Given the description of an element on the screen output the (x, y) to click on. 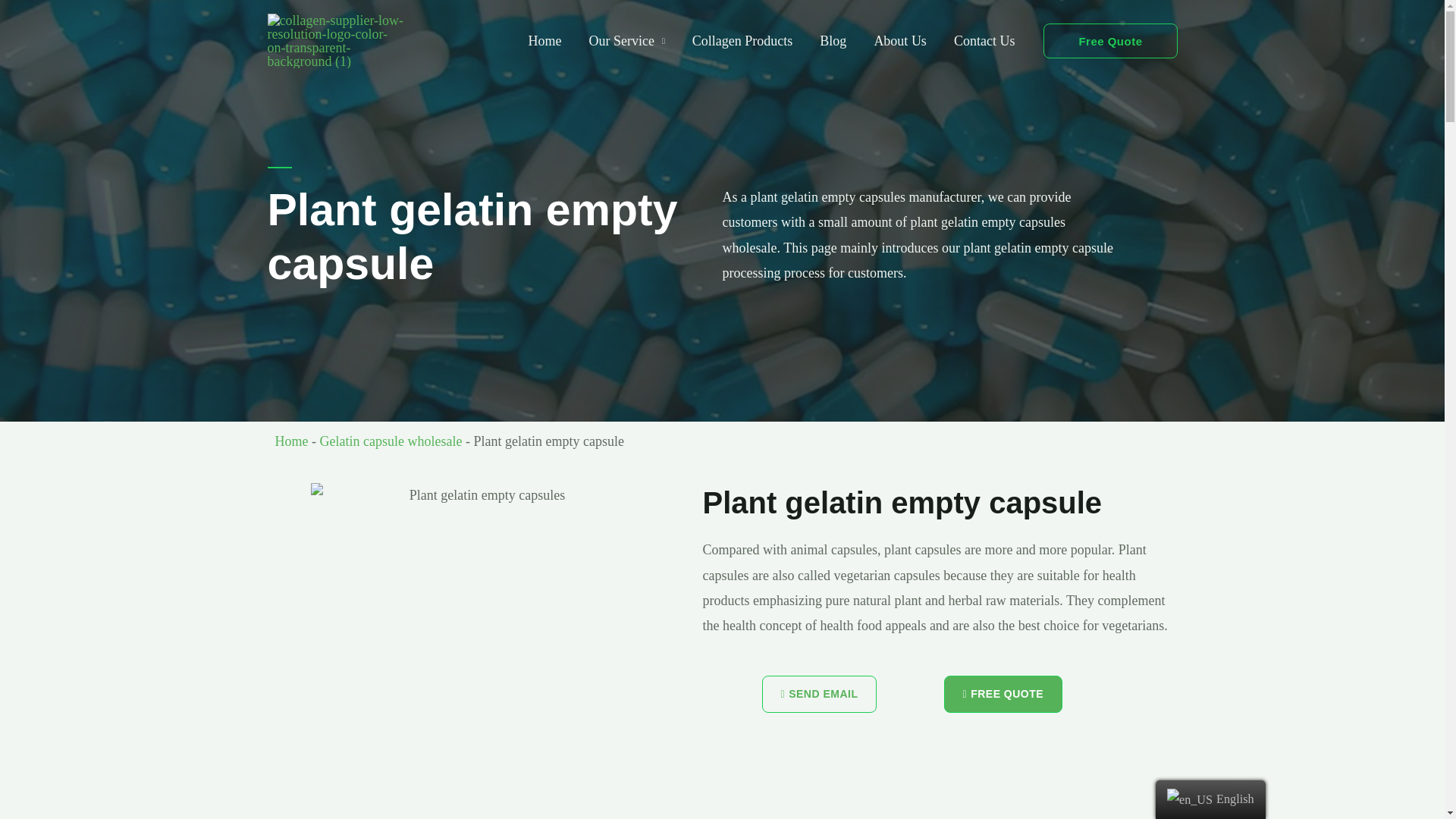
Blog (833, 40)
Free Quote (1109, 40)
SEND EMAIL (819, 693)
Our Service (626, 40)
Collagen Products (742, 40)
Home (291, 441)
English (1189, 799)
Gelatin capsule wholesale (391, 441)
About Us (900, 40)
Home (544, 40)
Contact Us (984, 40)
FREE QUOTE (1002, 693)
